Given the description of an element on the screen output the (x, y) to click on. 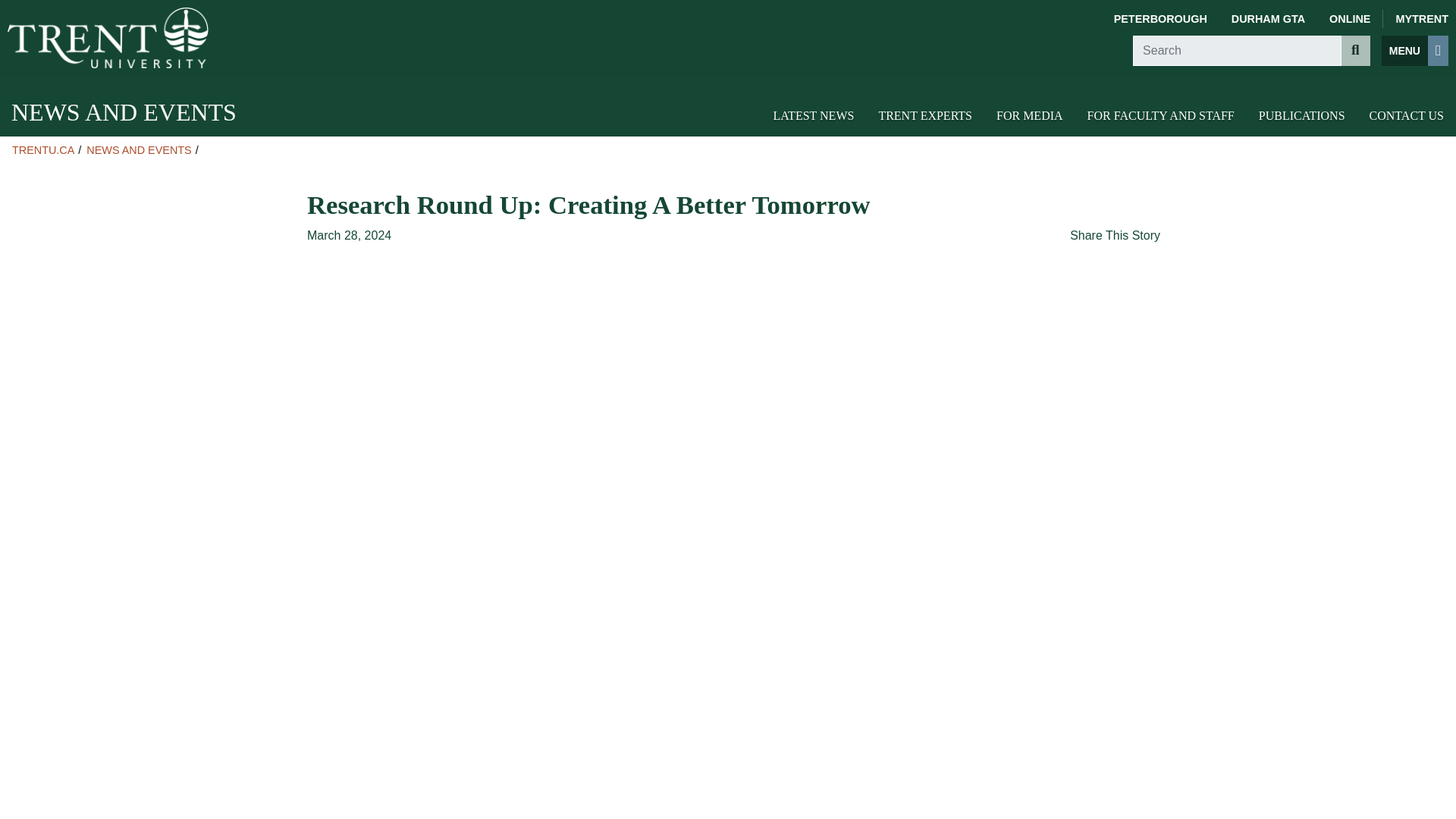
Home (107, 37)
Main Menu (1414, 51)
